Given the description of an element on the screen output the (x, y) to click on. 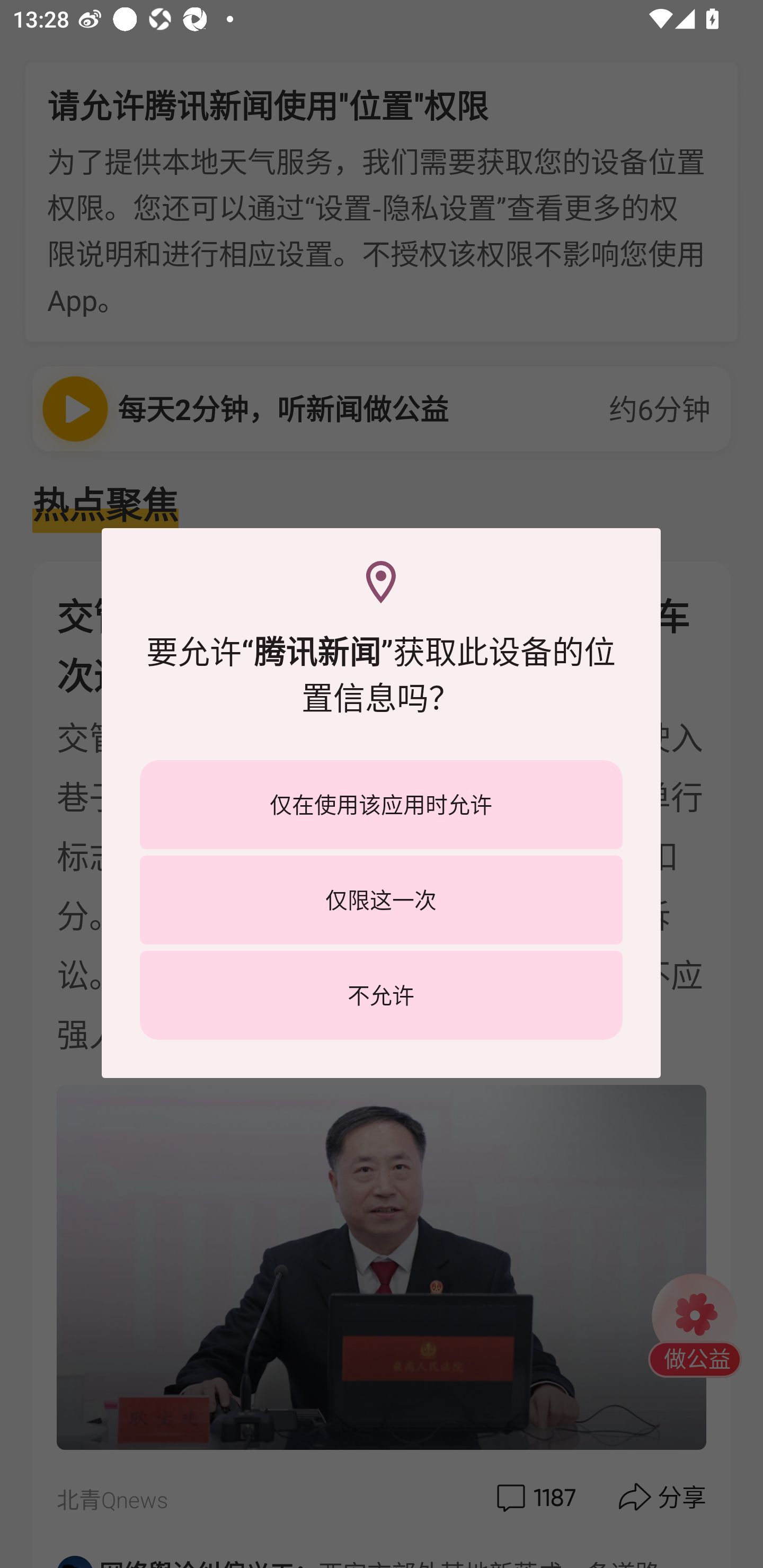
仅在使用该应用时允许 (380, 804)
仅限这一次 (380, 899)
不允许 (380, 994)
